Given the description of an element on the screen output the (x, y) to click on. 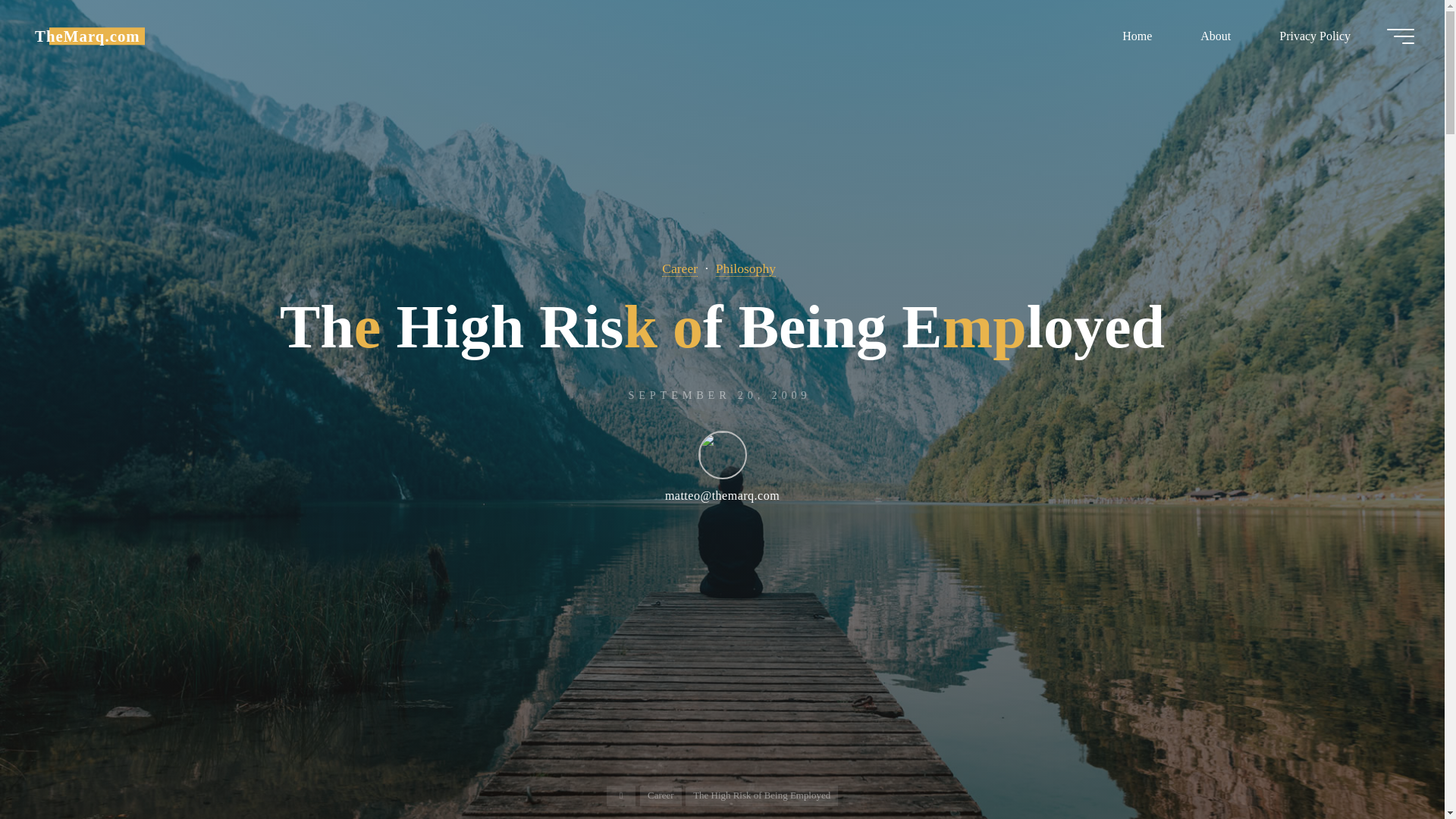
About (1215, 35)
Uncomplicating Business and Life (87, 36)
Philosophy (746, 268)
Read more (721, 724)
Home (1136, 35)
TheMarq.com (87, 36)
Home (621, 795)
Career (679, 268)
Privacy Policy (1314, 35)
